Given the description of an element on the screen output the (x, y) to click on. 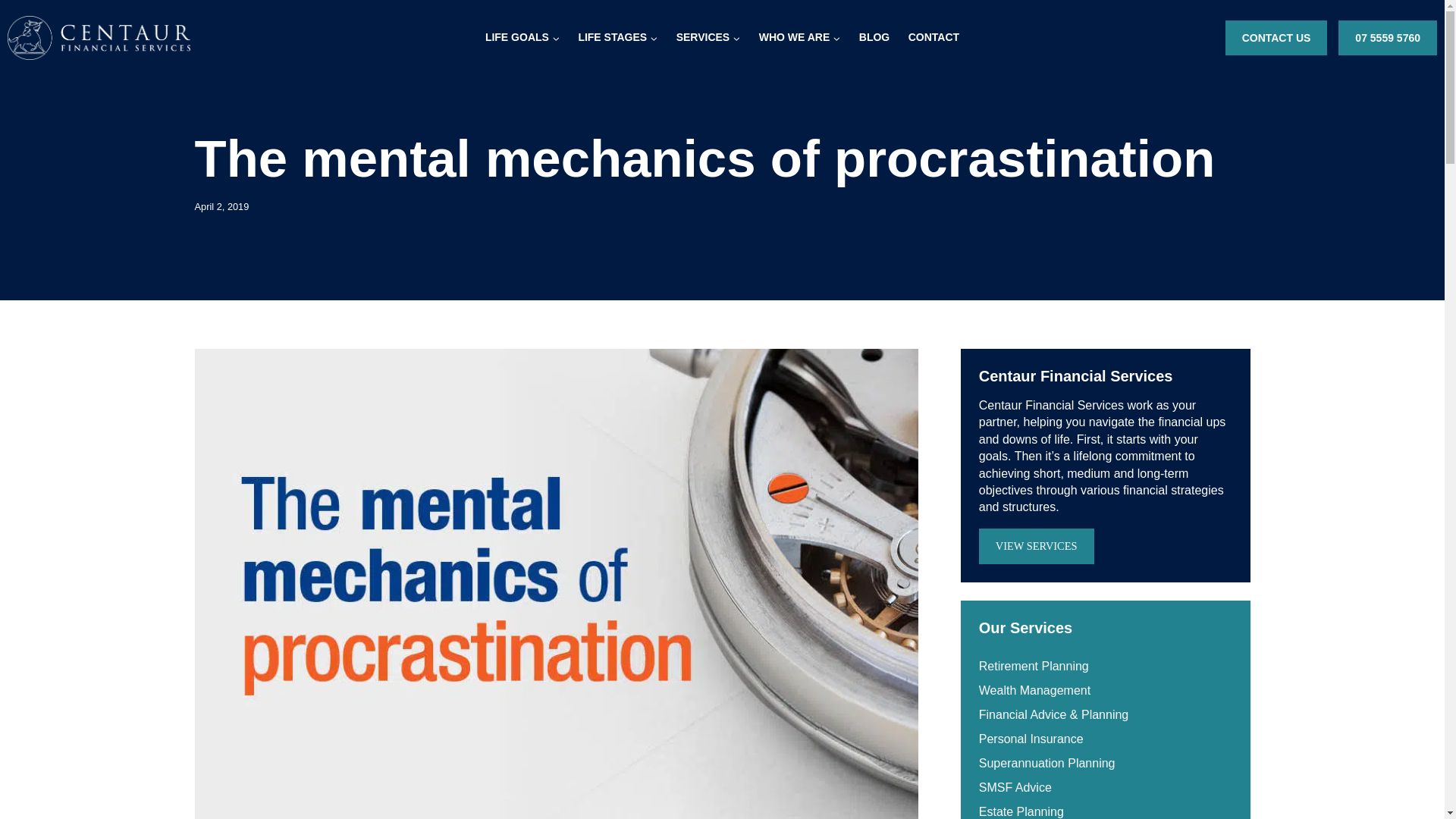
LIFE STAGES (617, 37)
SERVICES (707, 37)
LIFE GOALS (522, 37)
